Given the description of an element on the screen output the (x, y) to click on. 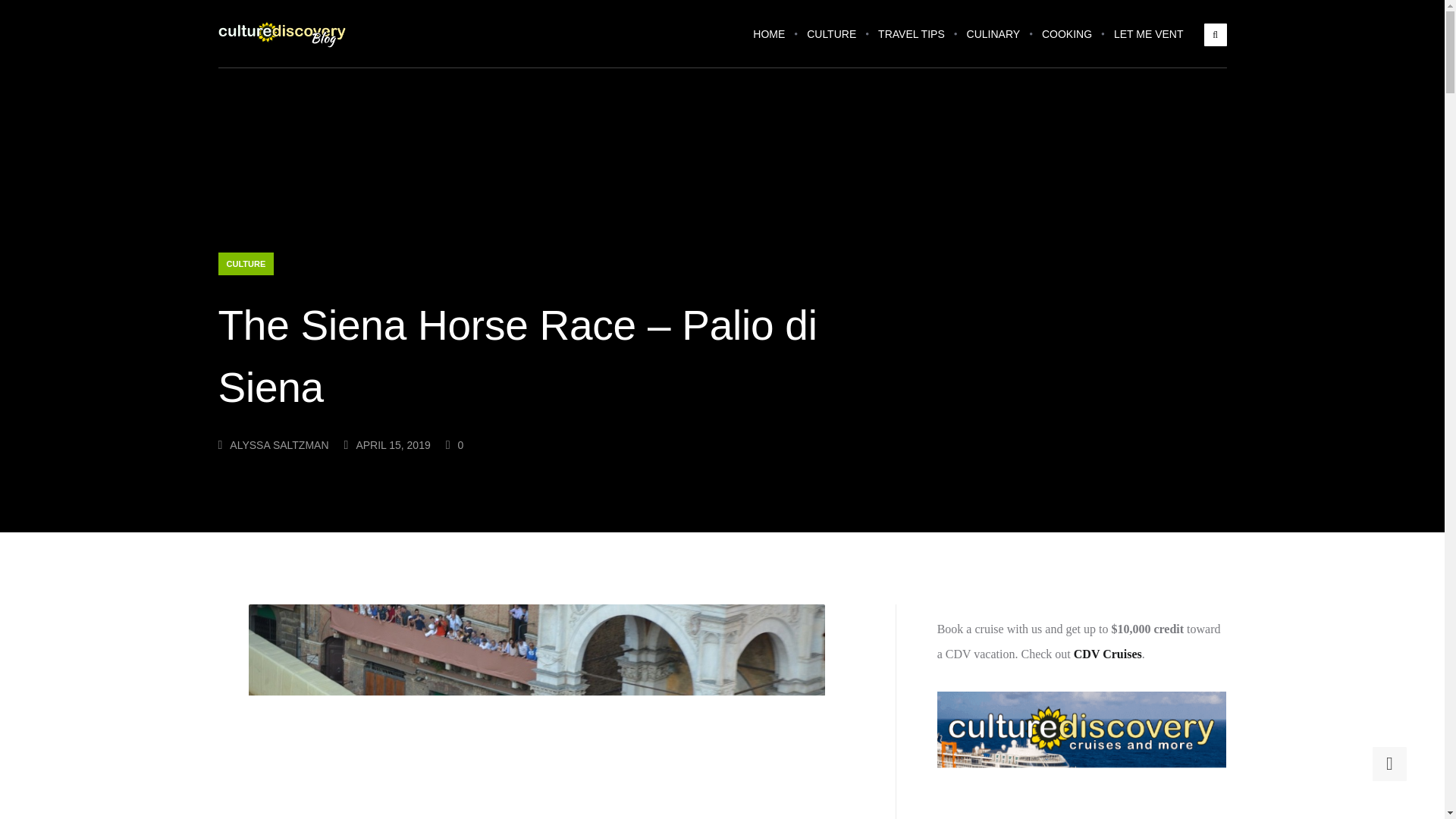
TRAVEL TIPS (911, 43)
0 (454, 444)
APRIL 15, 2019 (386, 444)
HOME (768, 43)
CULTURE (246, 263)
ALYSSA SALTZMAN (273, 444)
CULINARY (993, 43)
LET ME VENT (1148, 43)
CULTURE (830, 43)
COOKING (1066, 43)
